Given the description of an element on the screen output the (x, y) to click on. 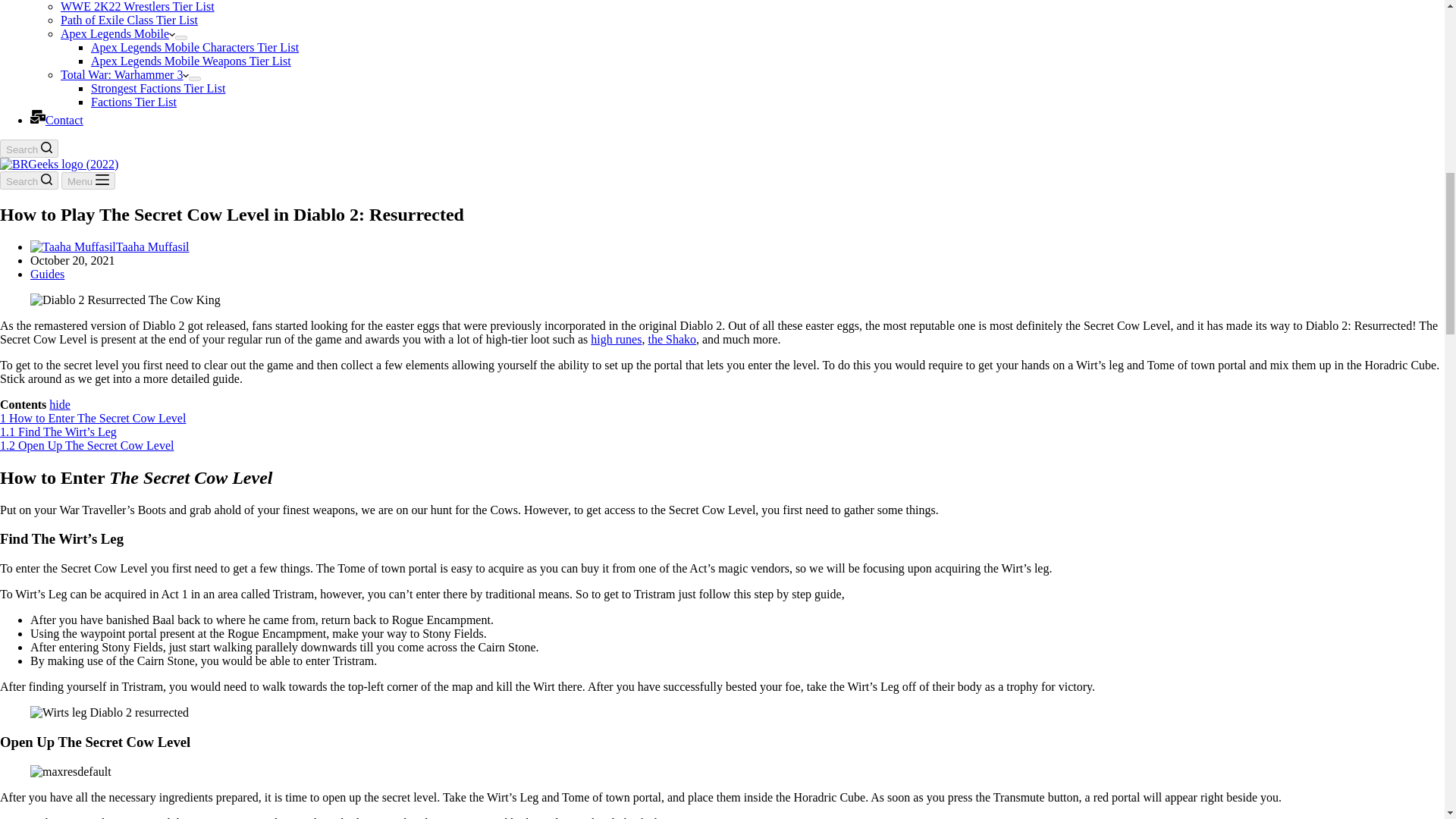
How to Play The Secret Cow Level in Diablo 2: Resurrected 1 (125, 300)
How to Play The Secret Cow Level in Diablo 2: Resurrected 3 (71, 771)
Posts by Taaha Muffasil (152, 246)
How to Play The Secret Cow Level in Diablo 2: Resurrected 2 (109, 712)
